Given the description of an element on the screen output the (x, y) to click on. 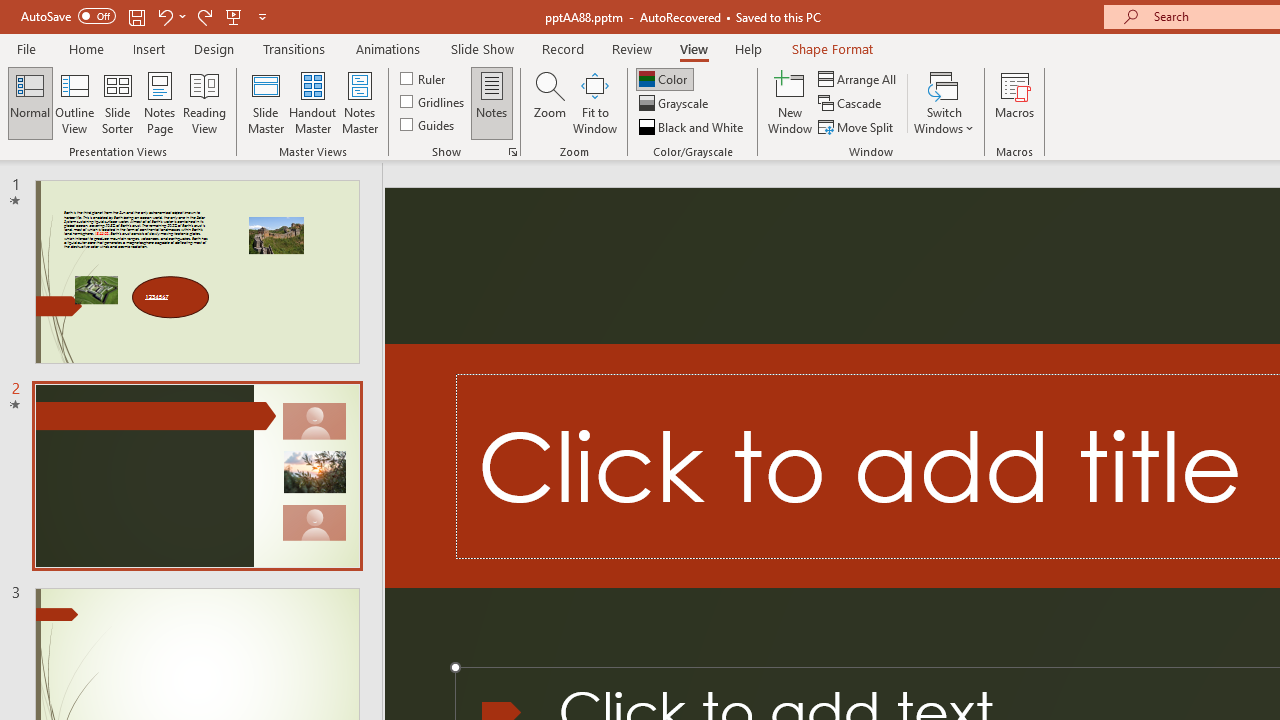
Cascade (851, 103)
Outline View (74, 102)
Grid Settings... (512, 151)
Guides (428, 124)
Macros (1014, 102)
